Given the description of an element on the screen output the (x, y) to click on. 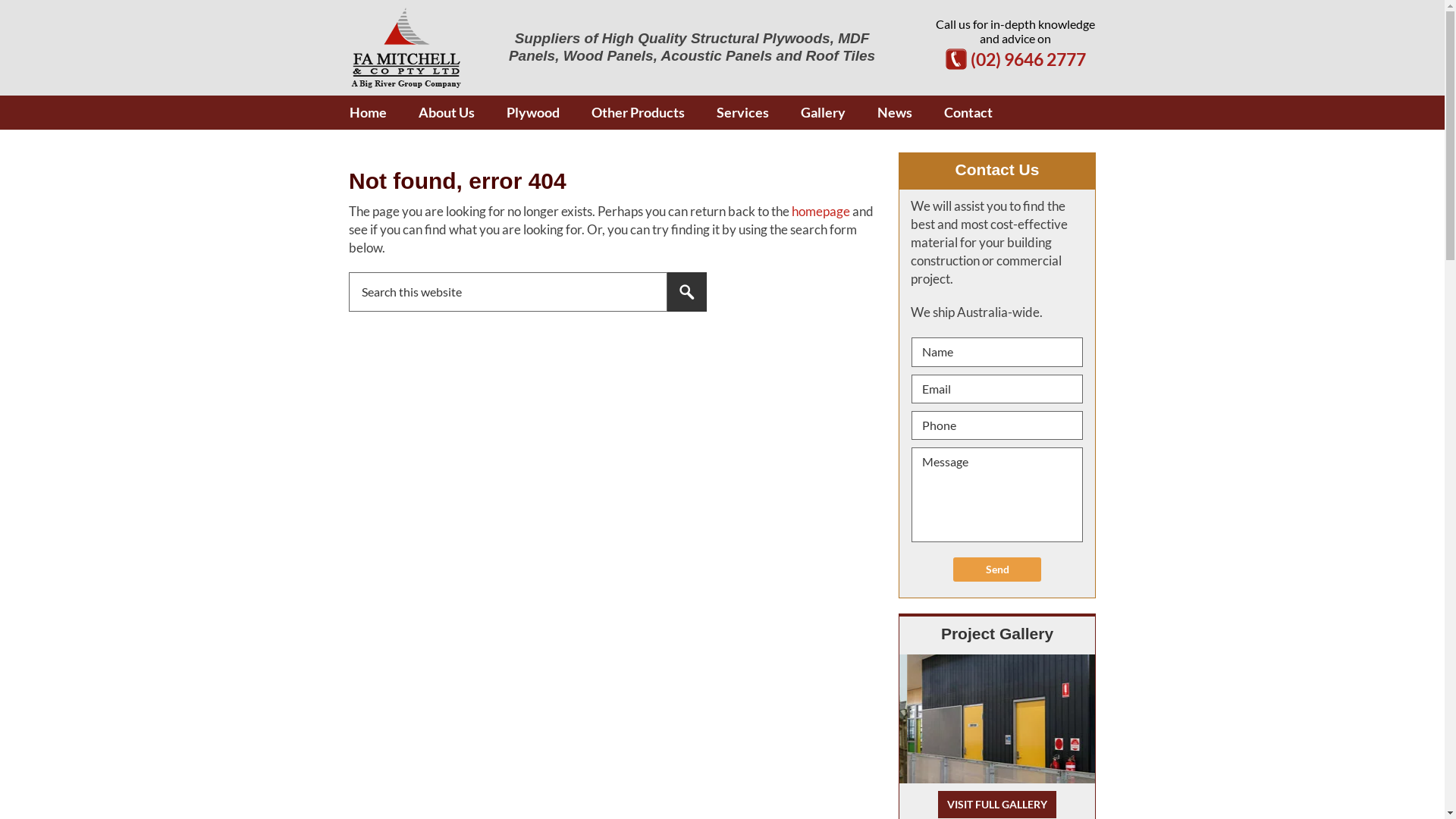
homepage Element type: text (820, 211)
grooved-shadowclard-textured-plywood Element type: hover (1100, 718)
News Element type: text (894, 112)
Services Element type: text (742, 112)
Send Element type: text (997, 569)
(02) 9646 2777 Element type: text (1026, 58)
Home Element type: text (367, 112)
Gallery Element type: text (822, 112)
Search Element type: text (686, 291)
Other Products Element type: text (637, 112)
Plywood Element type: text (532, 112)
Contact Element type: text (968, 112)
About Us Element type: text (446, 112)
del-carmen-ultra-slate-plywood Element type: hover (917, 718)
